Given the description of an element on the screen output the (x, y) to click on. 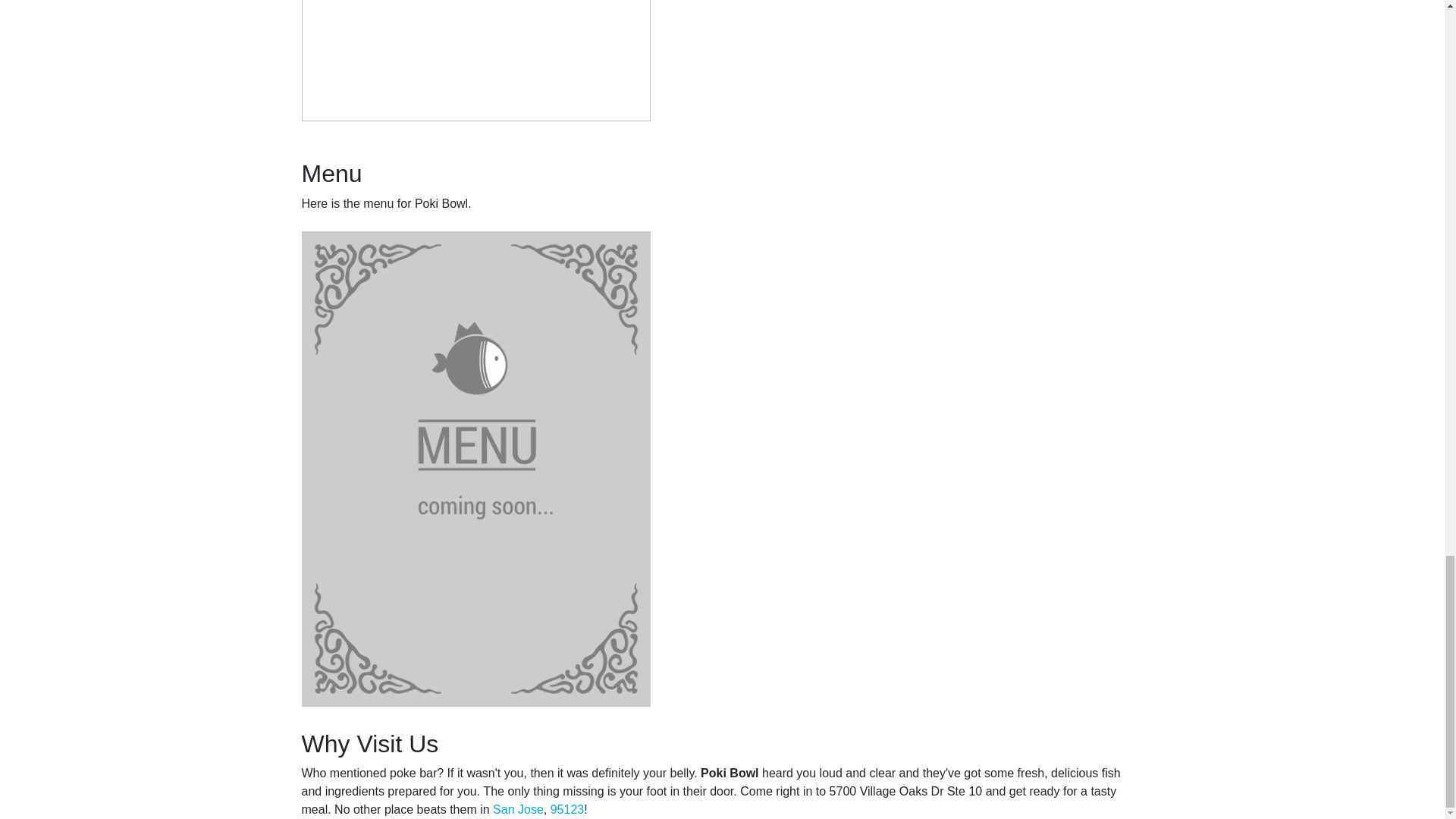
Poke Restaurants in San Jose, CA (518, 809)
95123 (567, 809)
Poke Restaurants in 95123 (567, 809)
San Jose (518, 809)
